Given the description of an element on the screen output the (x, y) to click on. 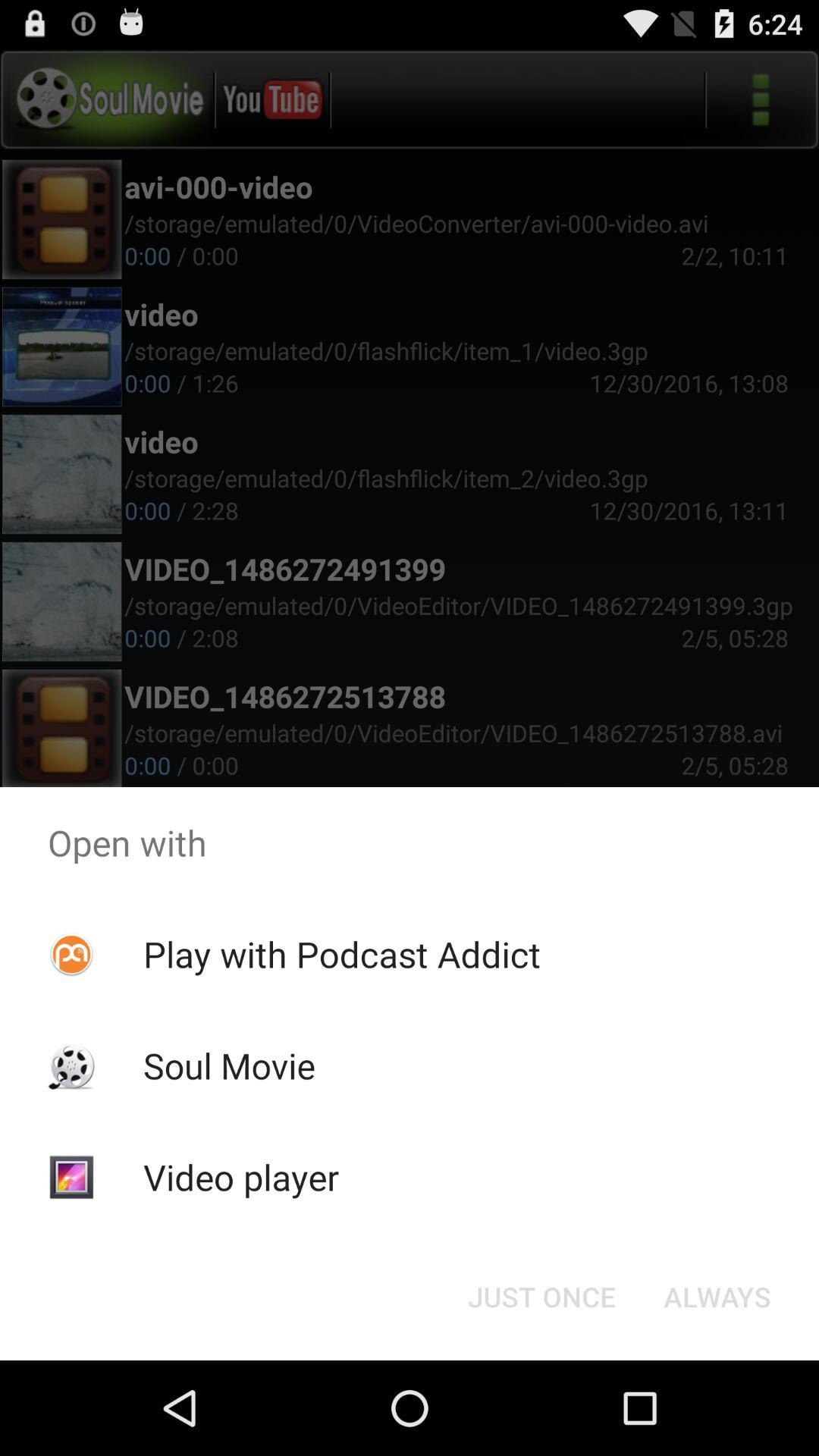
select item below open with icon (341, 953)
